Given the description of an element on the screen output the (x, y) to click on. 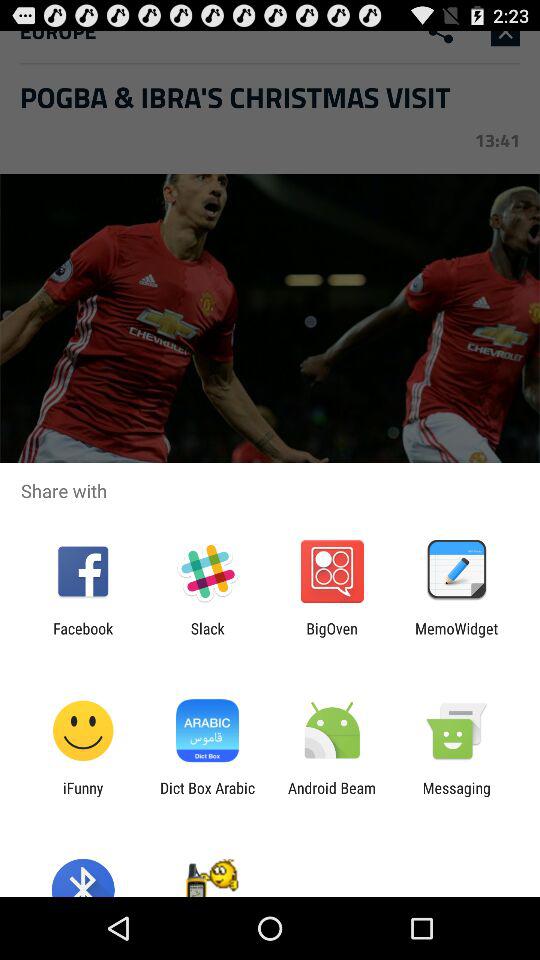
open item to the left of the dict box arabic item (83, 796)
